Given the description of an element on the screen output the (x, y) to click on. 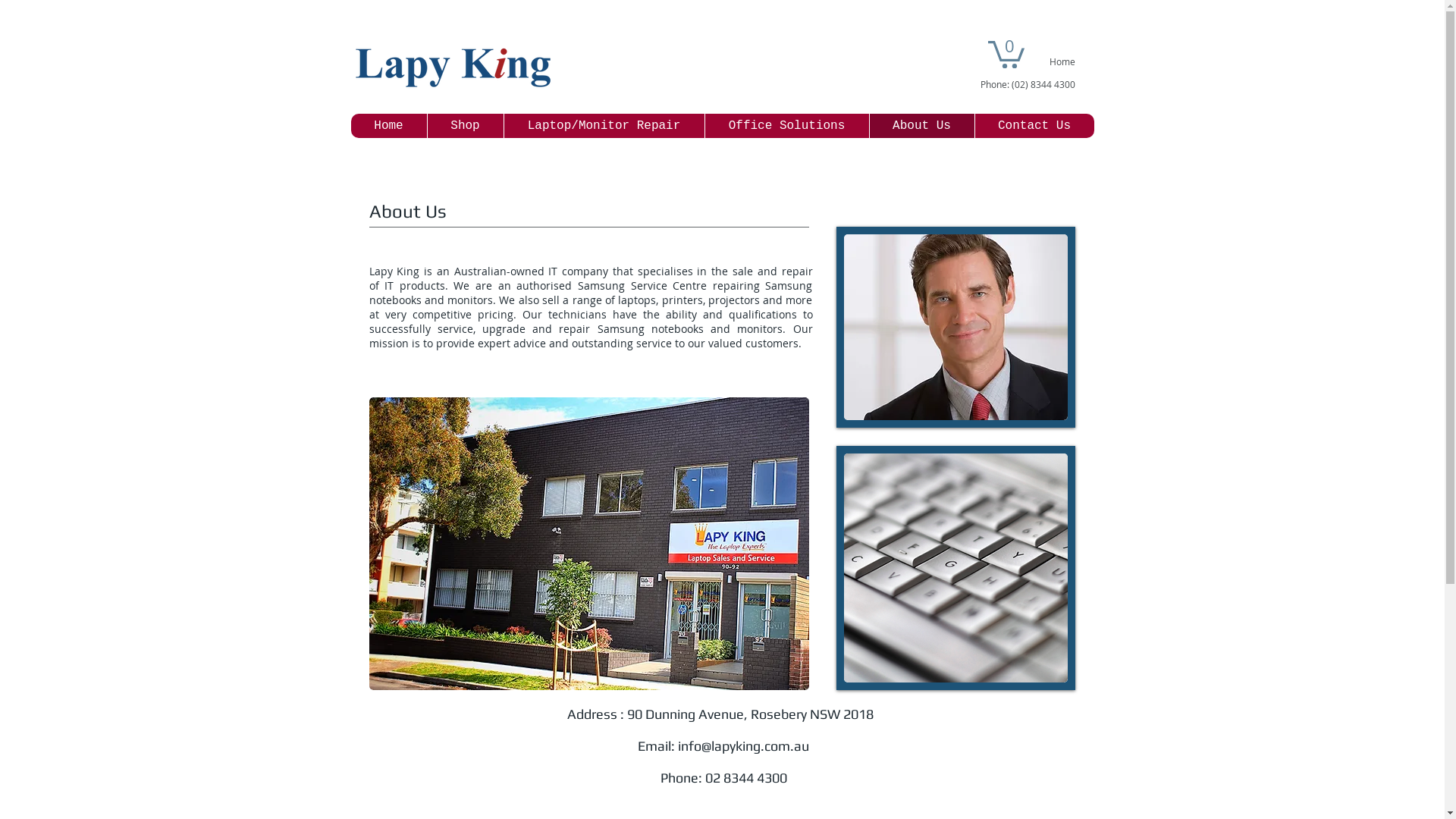
Contact Us Element type: text (1033, 125)
Phone: (02) 8344 4300 Element type: text (1026, 84)
Laptop/Monitor Repair Element type: text (603, 125)
0 Element type: text (1005, 52)
Office Solutions Element type: text (785, 125)
About Us Element type: text (921, 125)
Home Element type: text (1061, 61)
Shop Element type: text (464, 125)
info@lapyking.com.au Element type: text (743, 745)
Home Element type: text (388, 125)
